Given the description of an element on the screen output the (x, y) to click on. 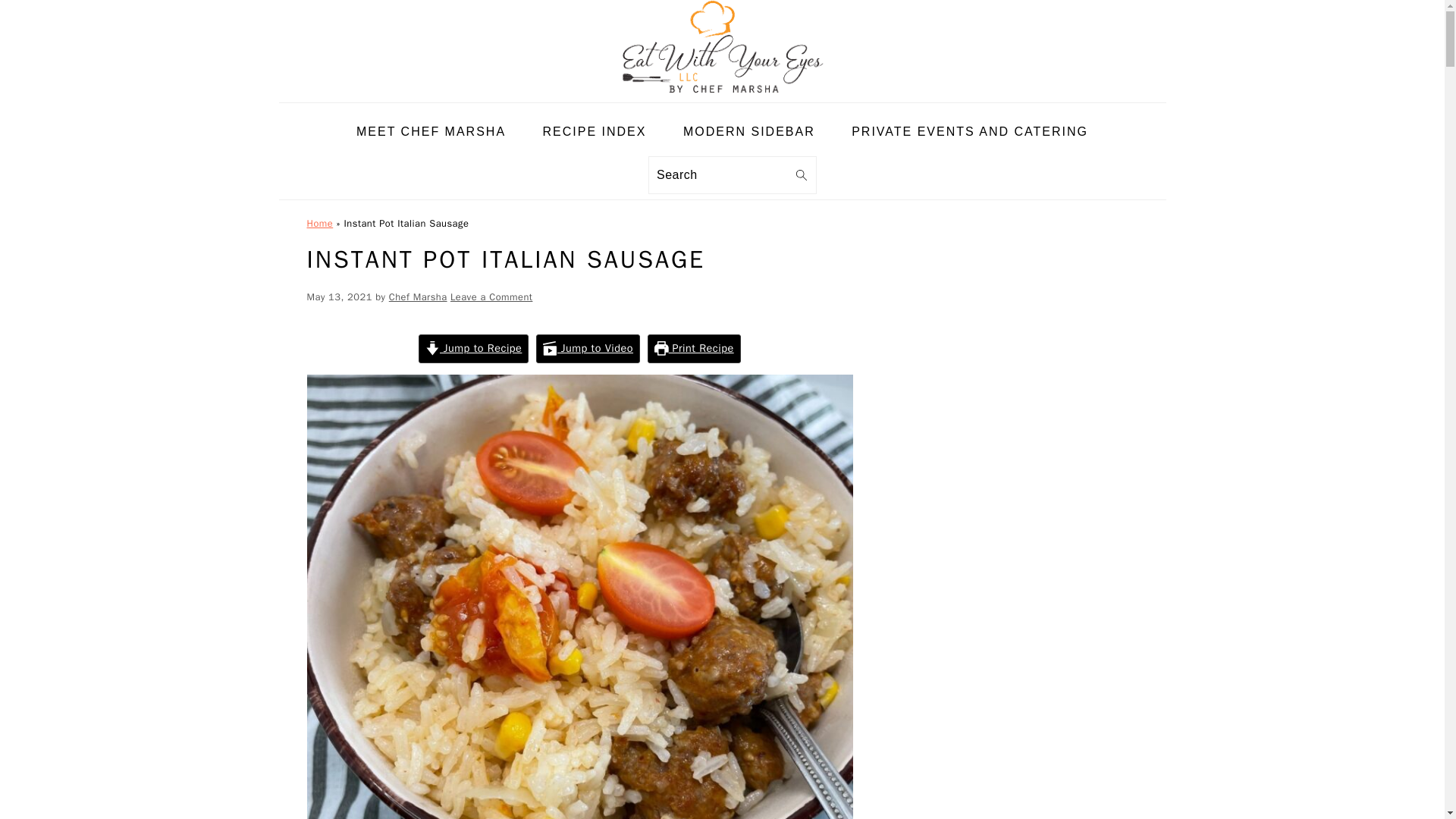
Chef Marsha (417, 297)
MEET CHEF MARSHA (430, 132)
PRIVATE EVENTS AND CATERING (969, 132)
Print Recipe (694, 348)
RECIPE INDEX (594, 132)
eatwithyoureyesllc.com (721, 90)
Jump to Video (587, 348)
eatwithyoureyesllc.com (721, 47)
Jump to Recipe (473, 348)
Leave a Comment (490, 297)
MODERN SIDEBAR (748, 132)
